Given the description of an element on the screen output the (x, y) to click on. 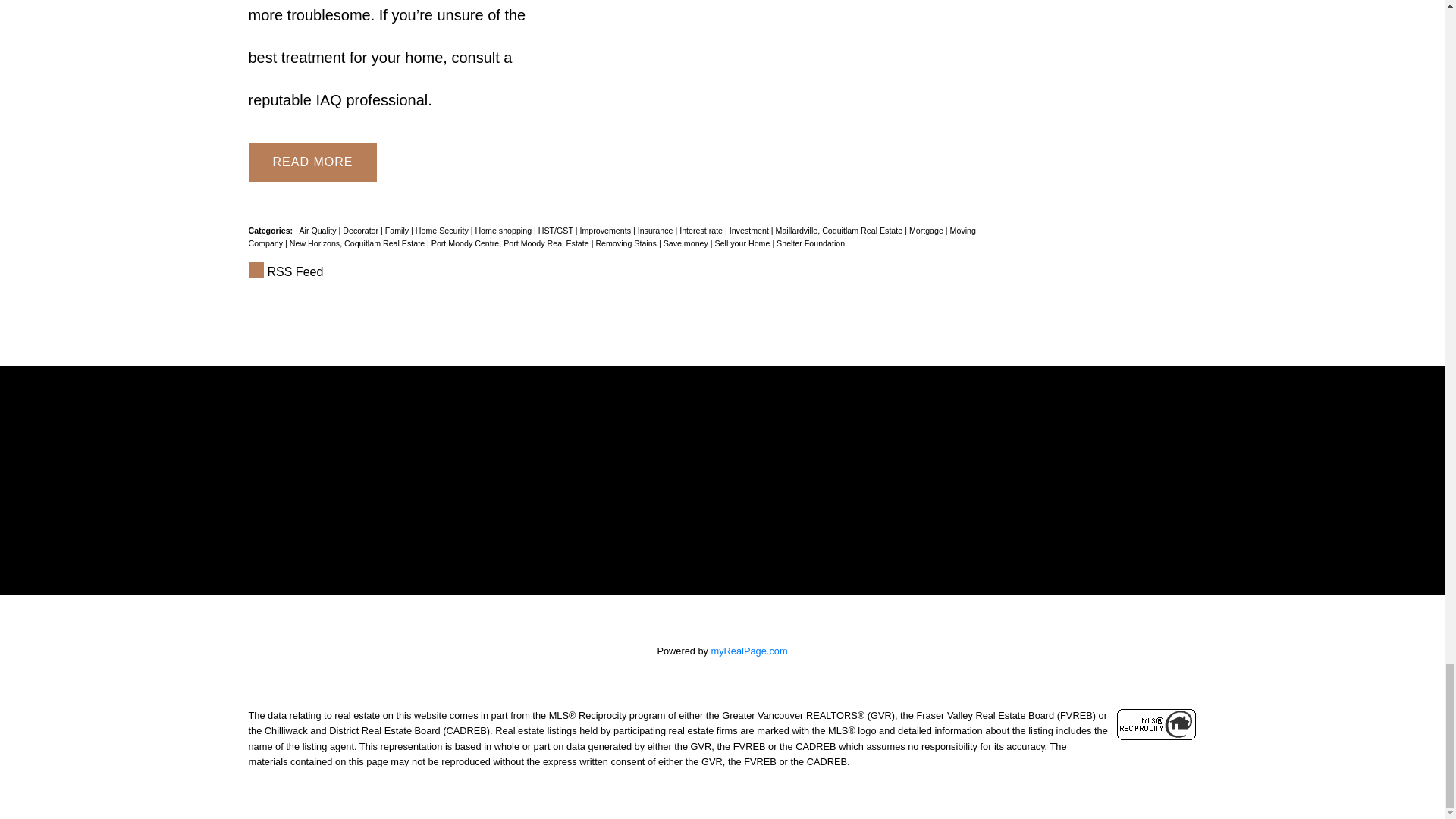
RSS (616, 271)
